Given the description of an element on the screen output the (x, y) to click on. 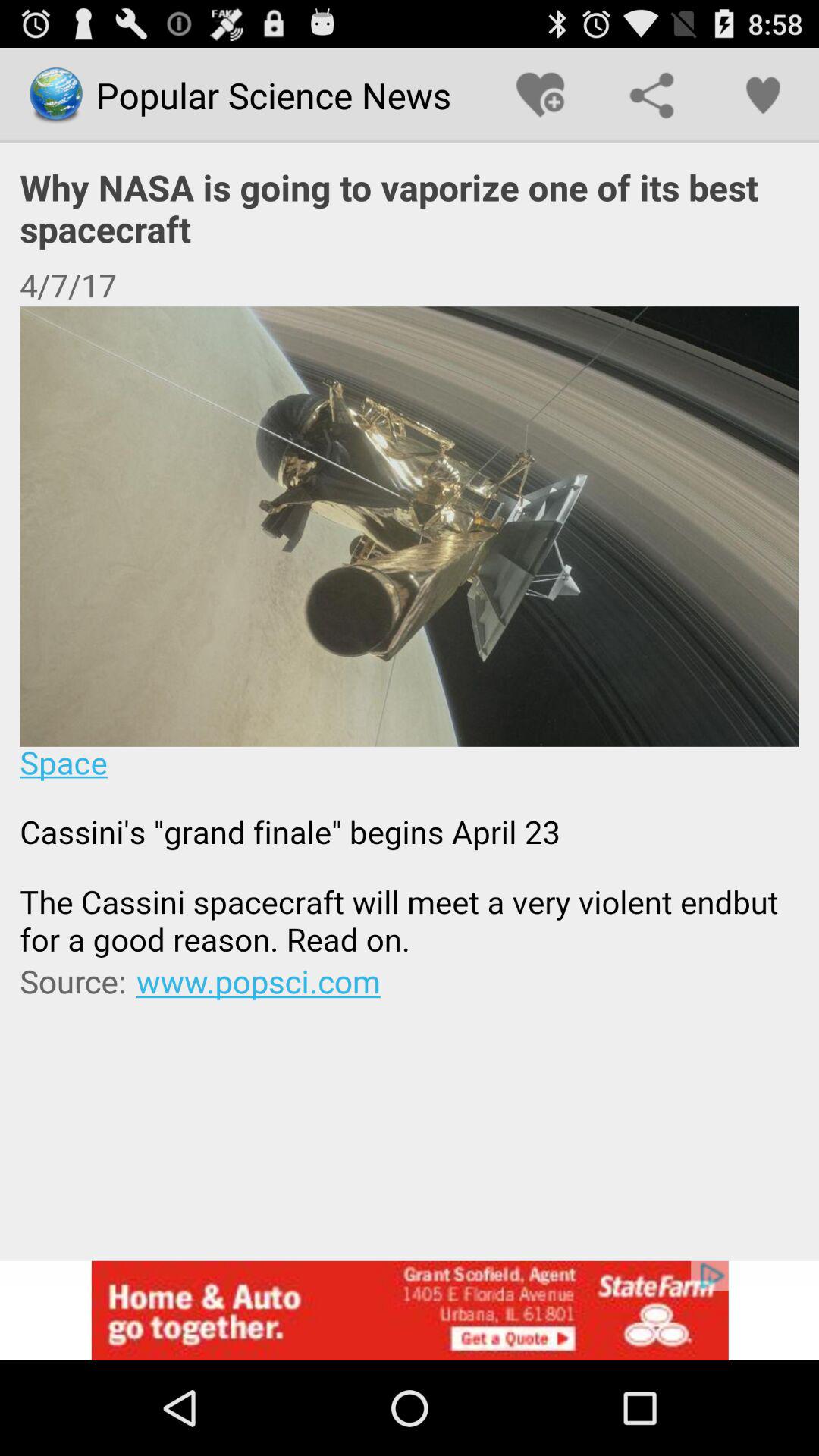
article summary (409, 632)
